Given the description of an element on the screen output the (x, y) to click on. 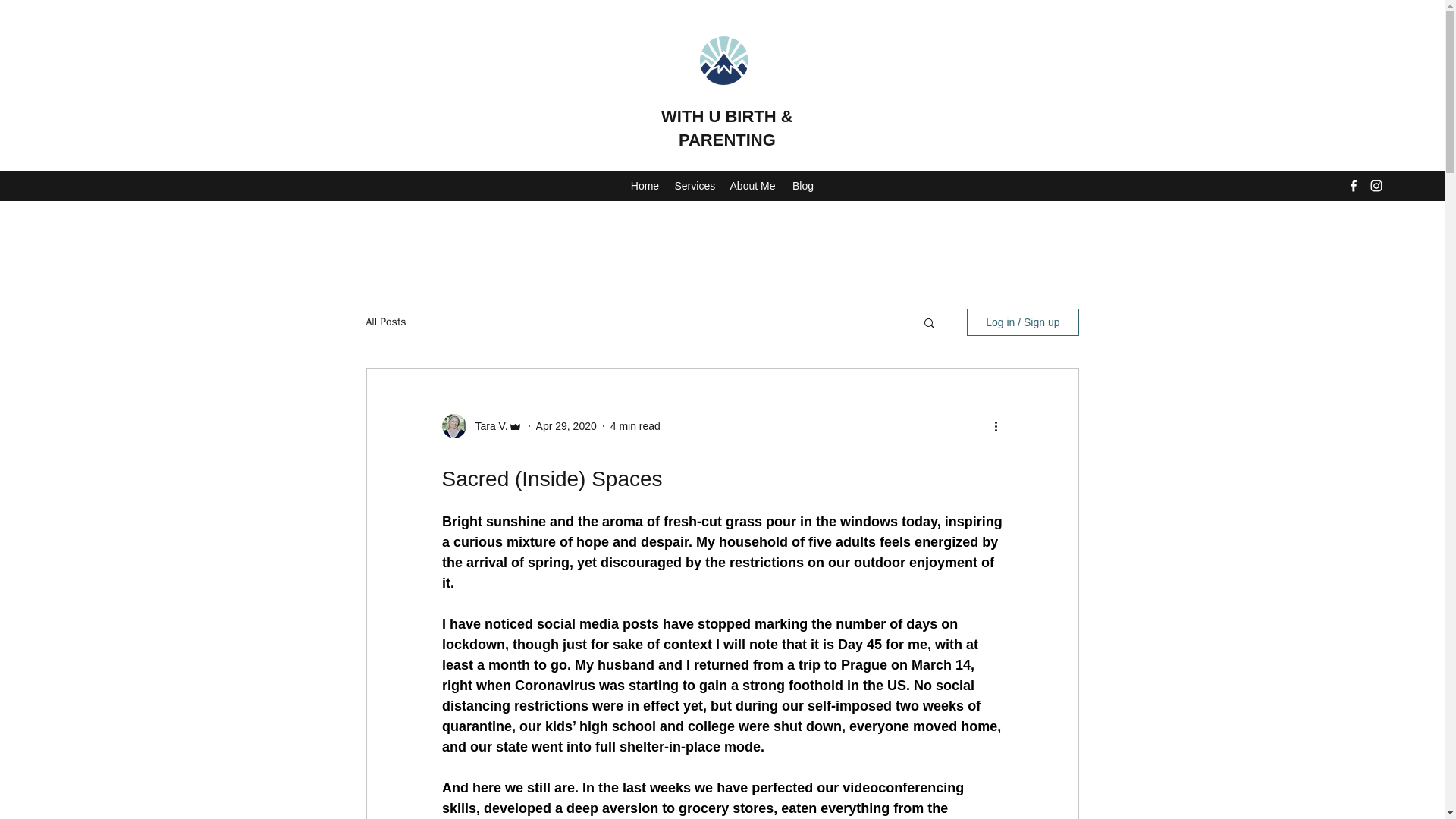
Tara V. (485, 426)
4 min read (635, 426)
Home (644, 185)
Apr 29, 2020 (565, 426)
Blog (802, 185)
All Posts (385, 322)
About Me (752, 185)
Services (693, 185)
